Given the description of an element on the screen output the (x, y) to click on. 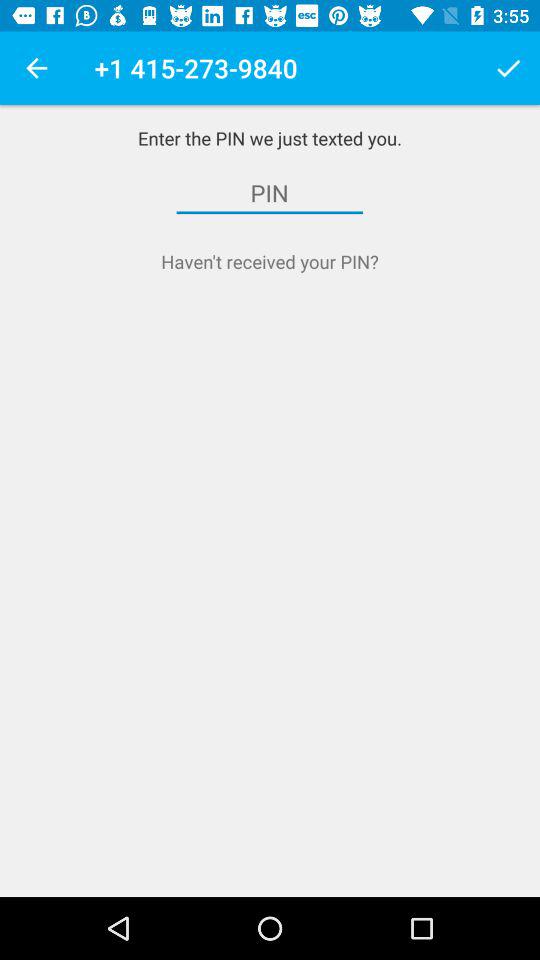
open item at the top left corner (36, 68)
